Given the description of an element on the screen output the (x, y) to click on. 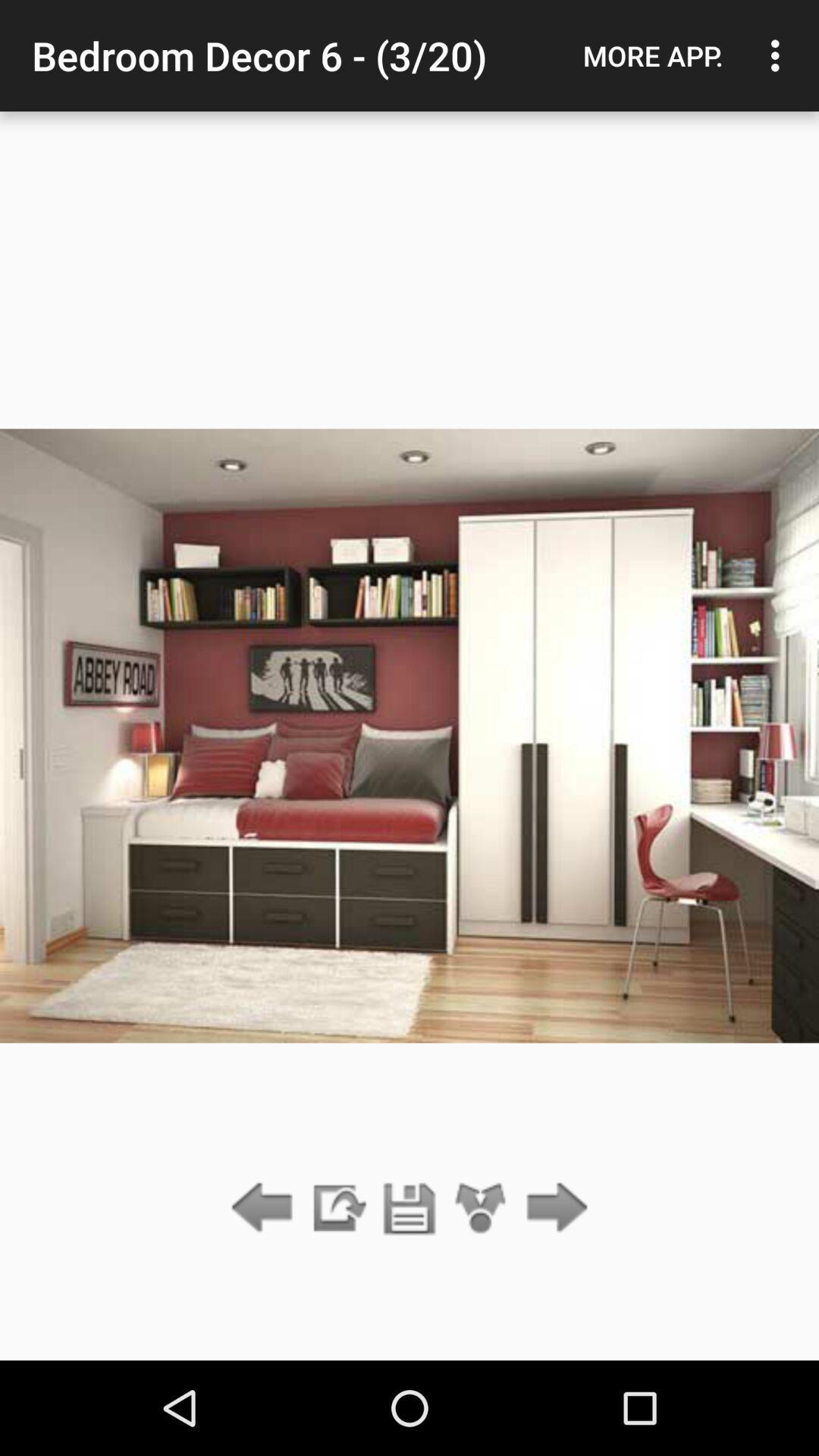
choose item below the more app. (552, 1209)
